Given the description of an element on the screen output the (x, y) to click on. 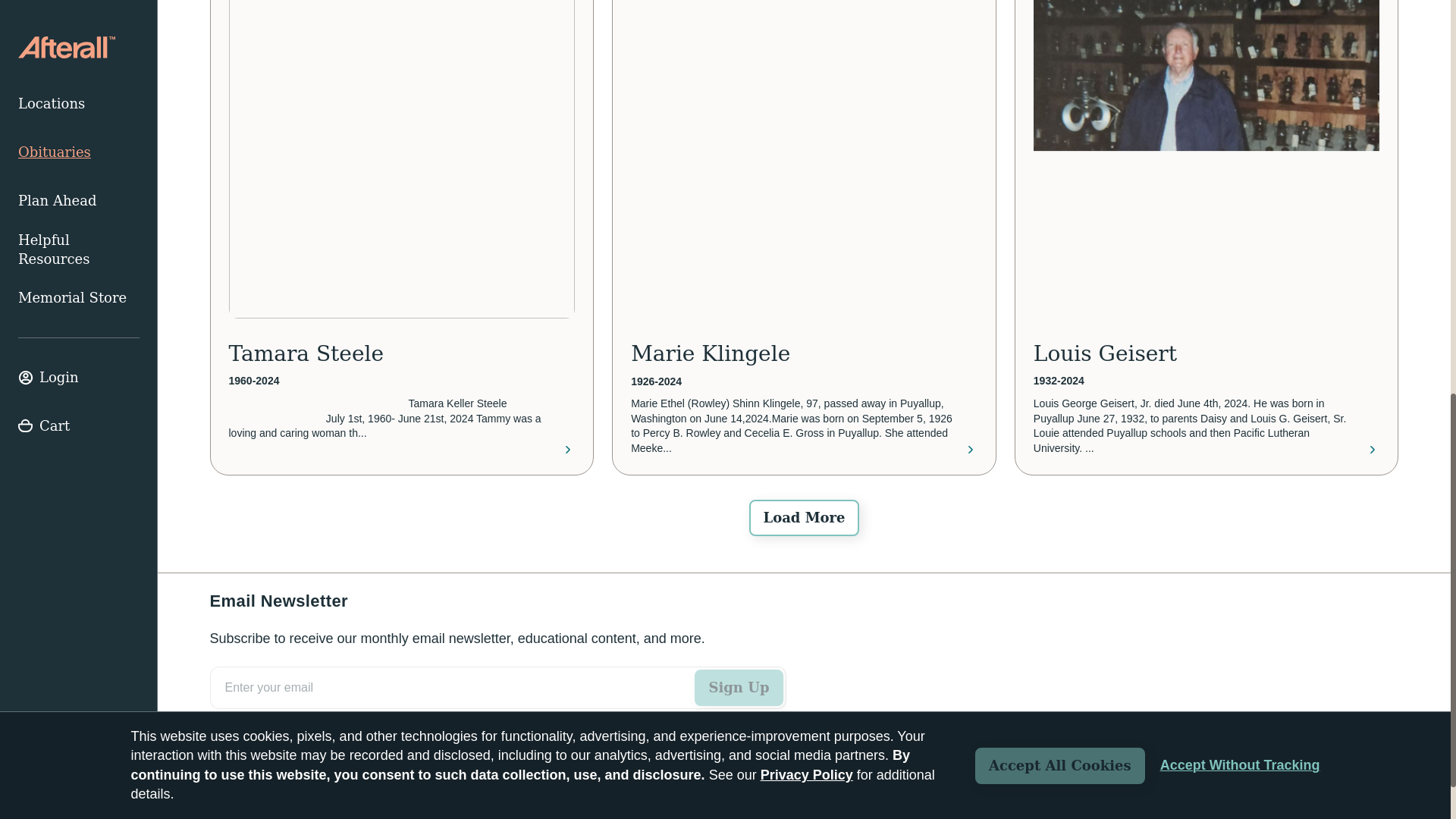
Sign Up (738, 687)
Email Newsletter (497, 704)
Load More (804, 517)
FAQs (341, 788)
Track an Order (257, 788)
